Given the description of an element on the screen output the (x, y) to click on. 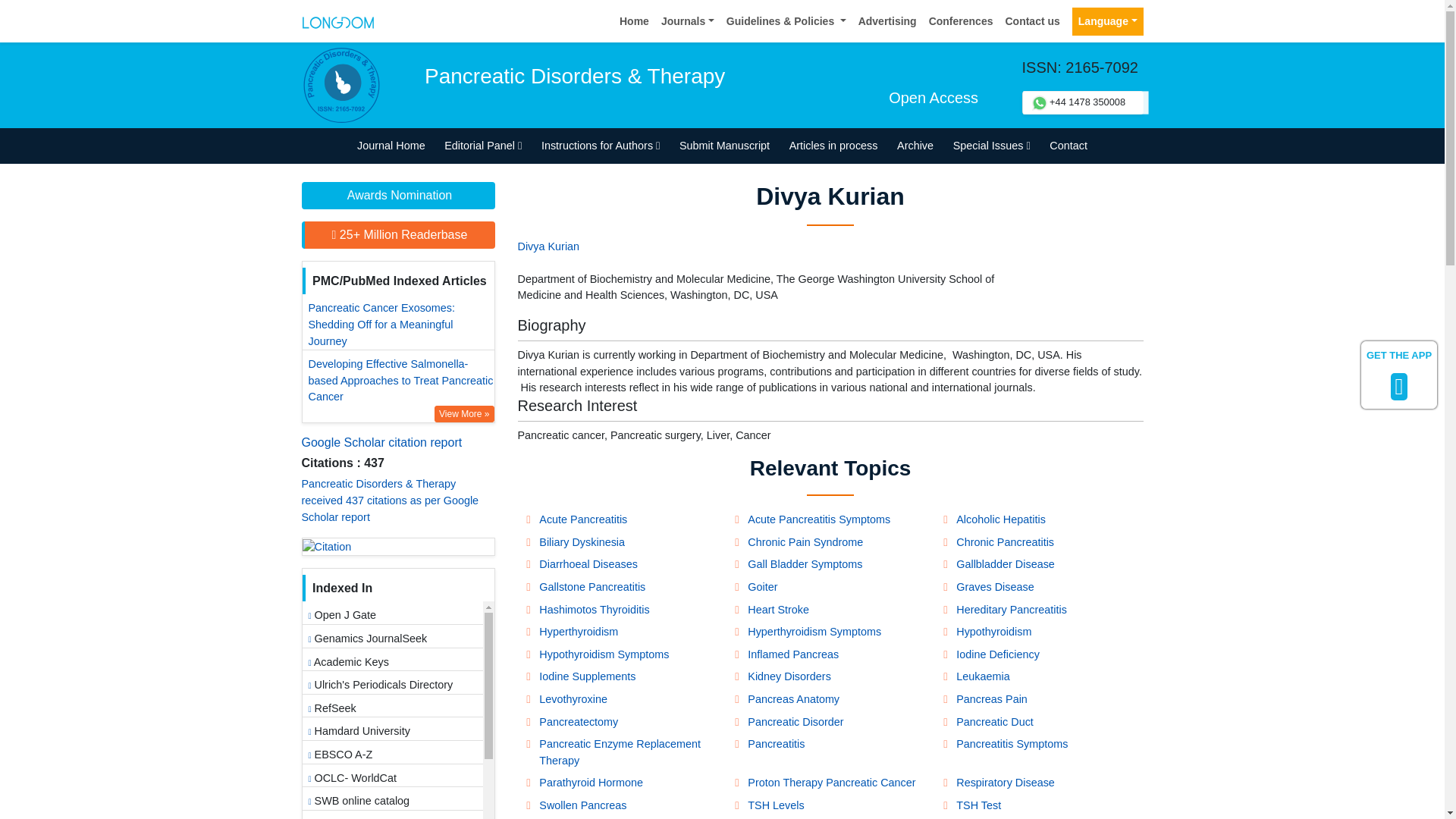
Journal Home (390, 145)
Home (633, 21)
Longdom Publishing S.L (337, 20)
Home (633, 21)
Contact us (1031, 21)
Conferences (960, 21)
Advertising (887, 21)
Instructions for Authors (600, 145)
Articles in process (832, 145)
Journals (687, 21)
Conferences (960, 21)
Editorial Panel (482, 145)
Submit Manuscript (723, 145)
Contact us (1031, 21)
Advertising (887, 21)
